Given the description of an element on the screen output the (x, y) to click on. 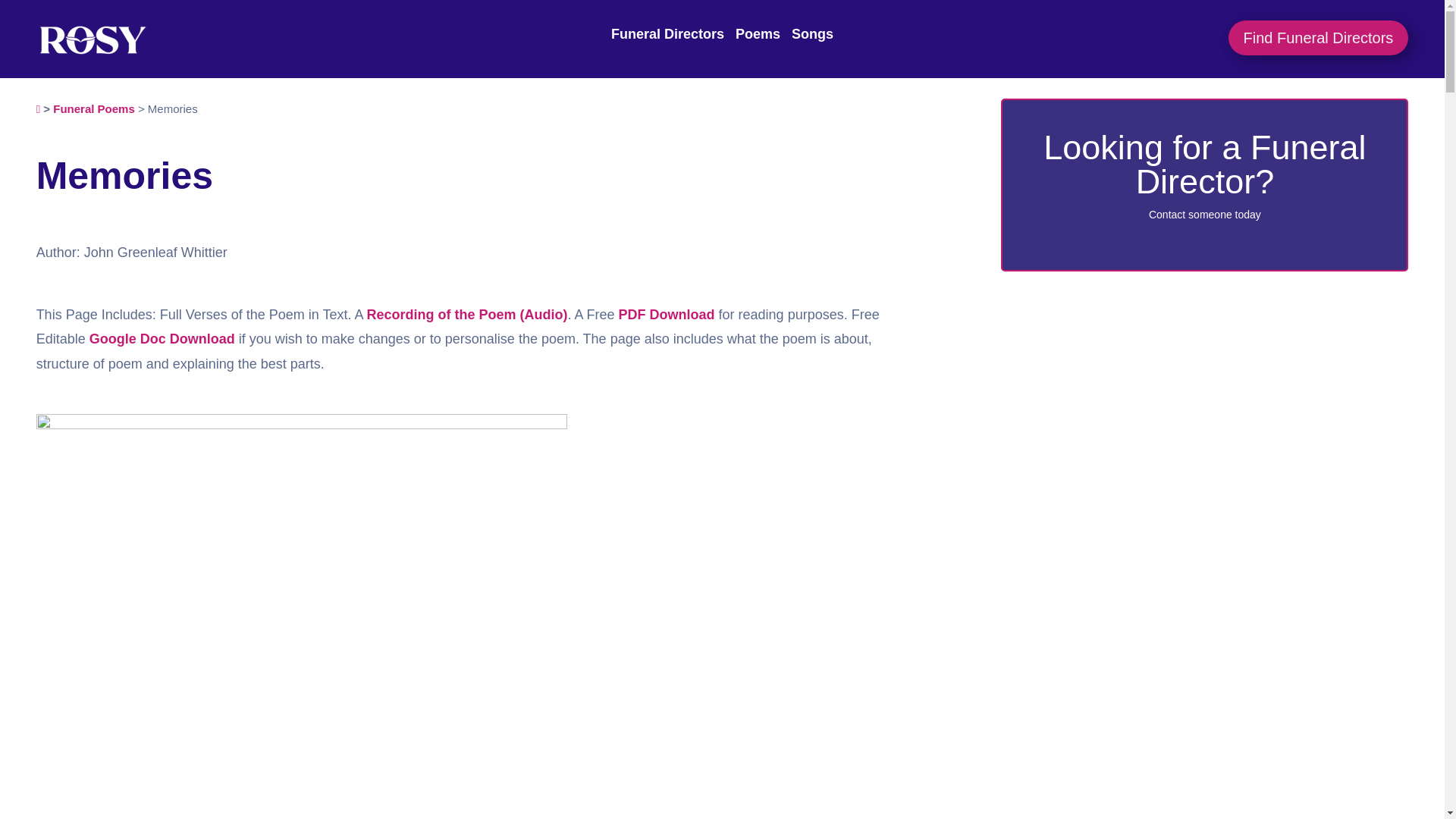
PDF Download (666, 314)
Google Doc Download (161, 338)
Poems (757, 33)
Songs (812, 33)
Funeral Poems (93, 108)
Funeral Directors (667, 33)
Find Funeral Directors (1318, 37)
